Given the description of an element on the screen output the (x, y) to click on. 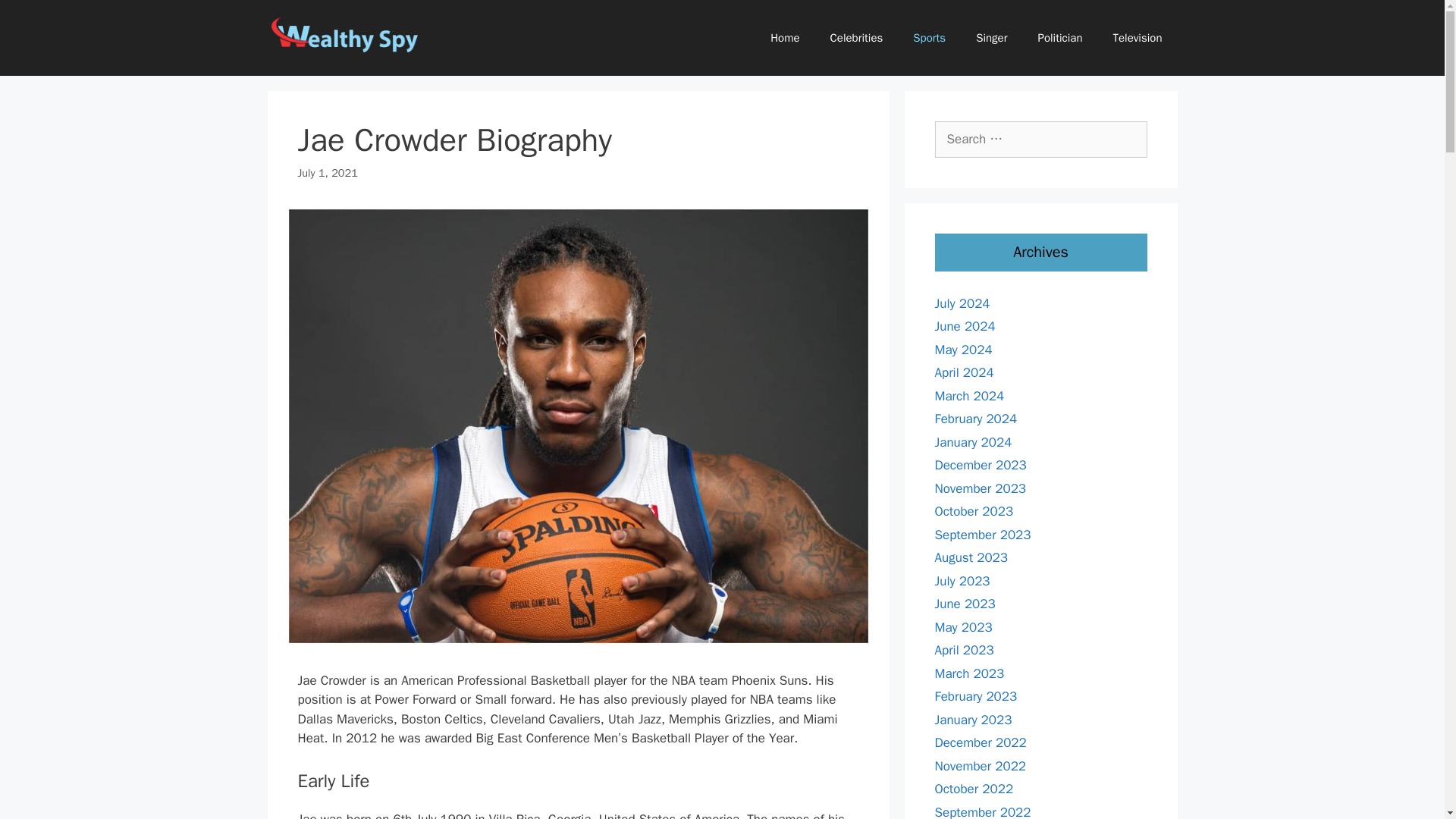
February 2024 (975, 418)
December 2023 (980, 465)
November 2023 (980, 488)
Sports (929, 37)
July 2023 (962, 580)
August 2023 (970, 557)
April 2024 (963, 372)
January 2024 (972, 441)
June 2024 (964, 326)
July 2024 (962, 303)
May 2024 (962, 349)
Television (1137, 37)
Search (35, 18)
Home (784, 37)
Politician (1059, 37)
